Given the description of an element on the screen output the (x, y) to click on. 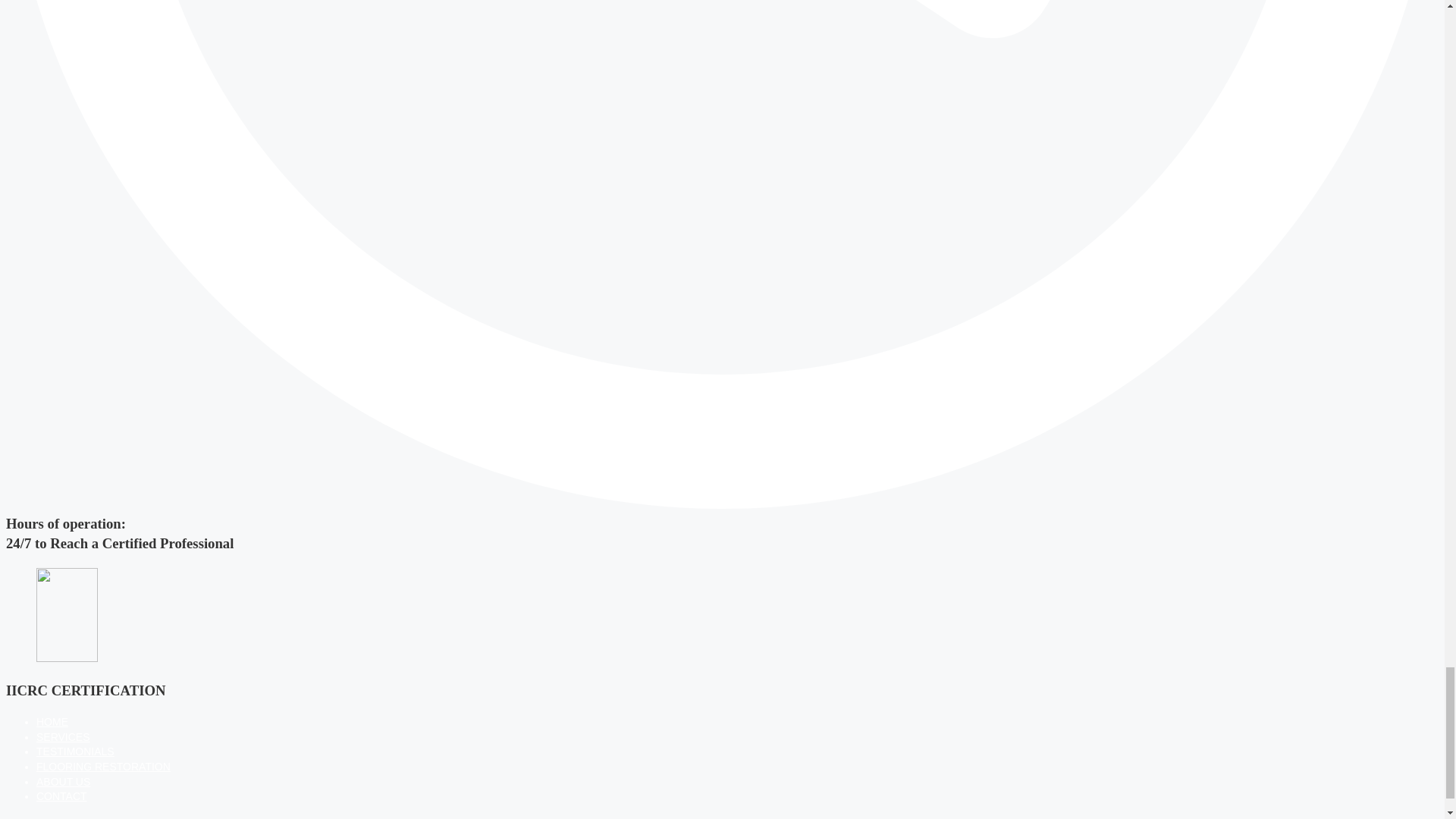
HOME (52, 721)
ABOUT US (63, 781)
FLOORING RESTORATION (103, 766)
SERVICES (63, 736)
TESTIMONIALS (75, 751)
CONTACT (61, 796)
